Given the description of an element on the screen output the (x, y) to click on. 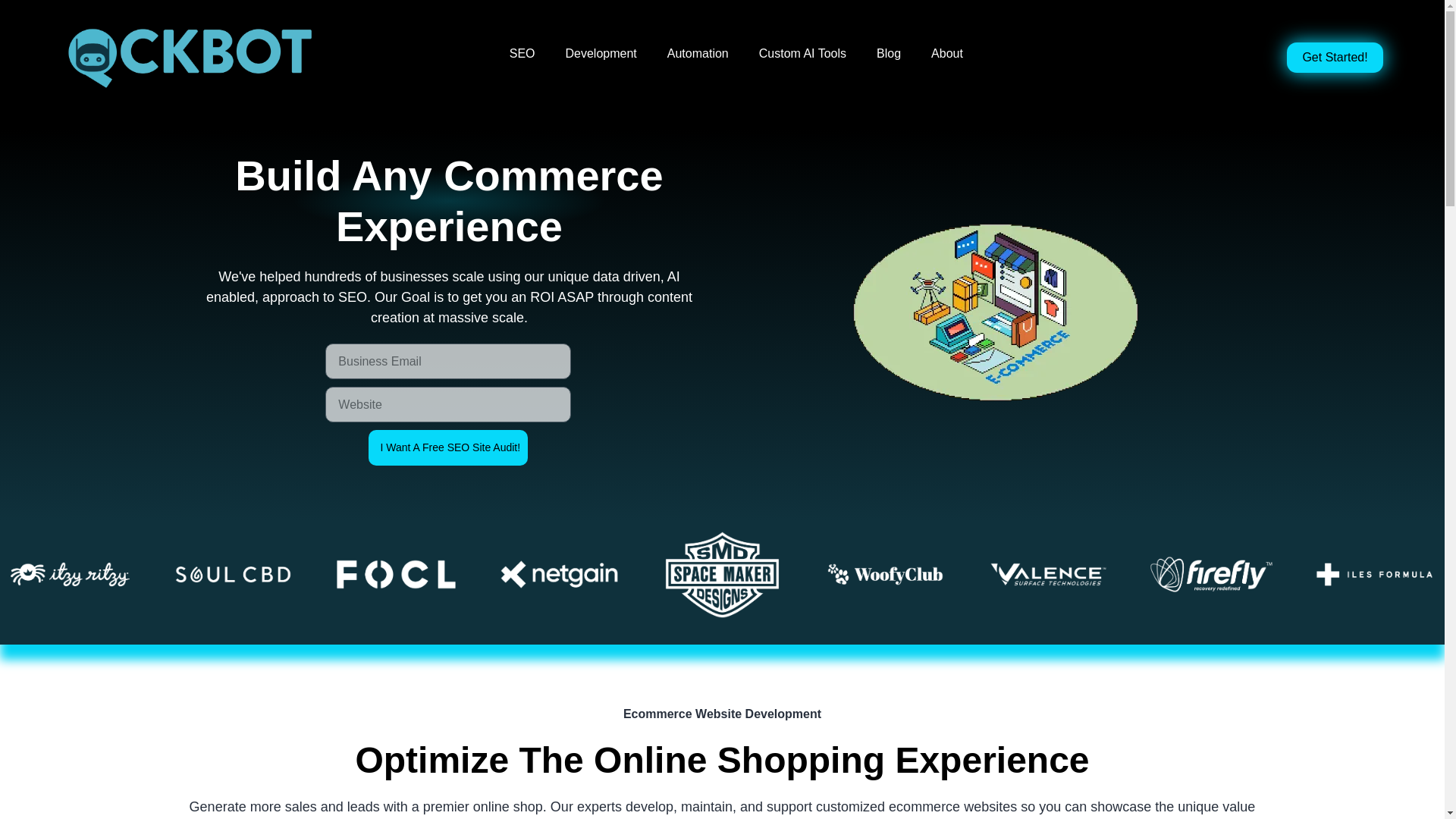
I Want A Free SEO Site Audit! (447, 447)
About (946, 53)
Get Started! (1334, 57)
SEO (522, 53)
Custom AI Tools (802, 53)
Blog (888, 53)
Dev Page 223 (69, 573)
Dev Page 225 (232, 573)
Automation (698, 53)
Development (601, 53)
